Given the description of an element on the screen output the (x, y) to click on. 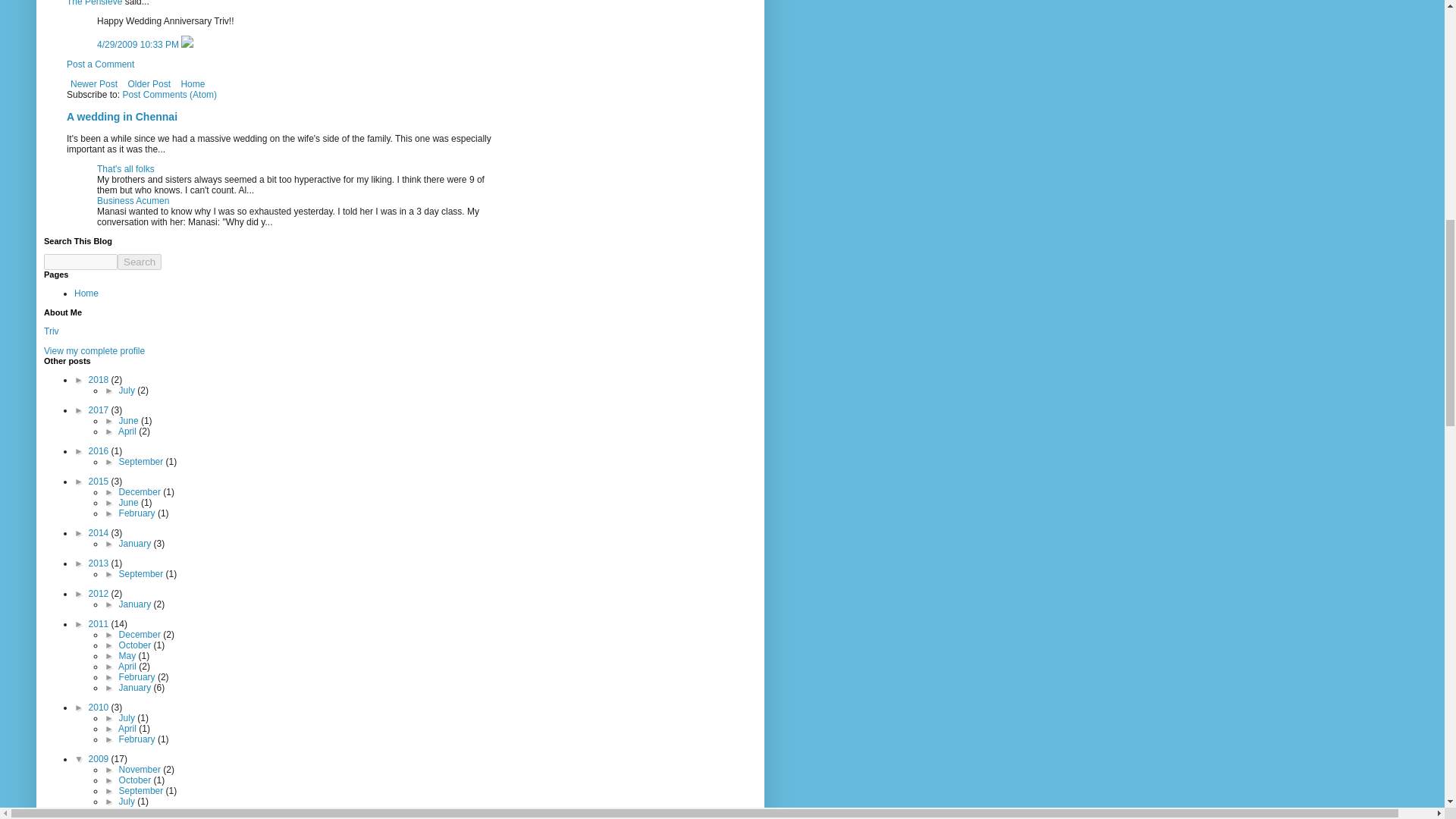
That's all folks (125, 168)
Home (86, 293)
Search (139, 261)
Older Post (148, 84)
Search (139, 261)
2017 (100, 409)
Newer Post (93, 84)
Delete Comment (186, 44)
The Pensieve (94, 3)
Triv (51, 330)
A wedding in Chennai (121, 116)
Newer Post (93, 84)
2018 (100, 379)
comment permalink (138, 44)
July (128, 389)
